Given the description of an element on the screen output the (x, y) to click on. 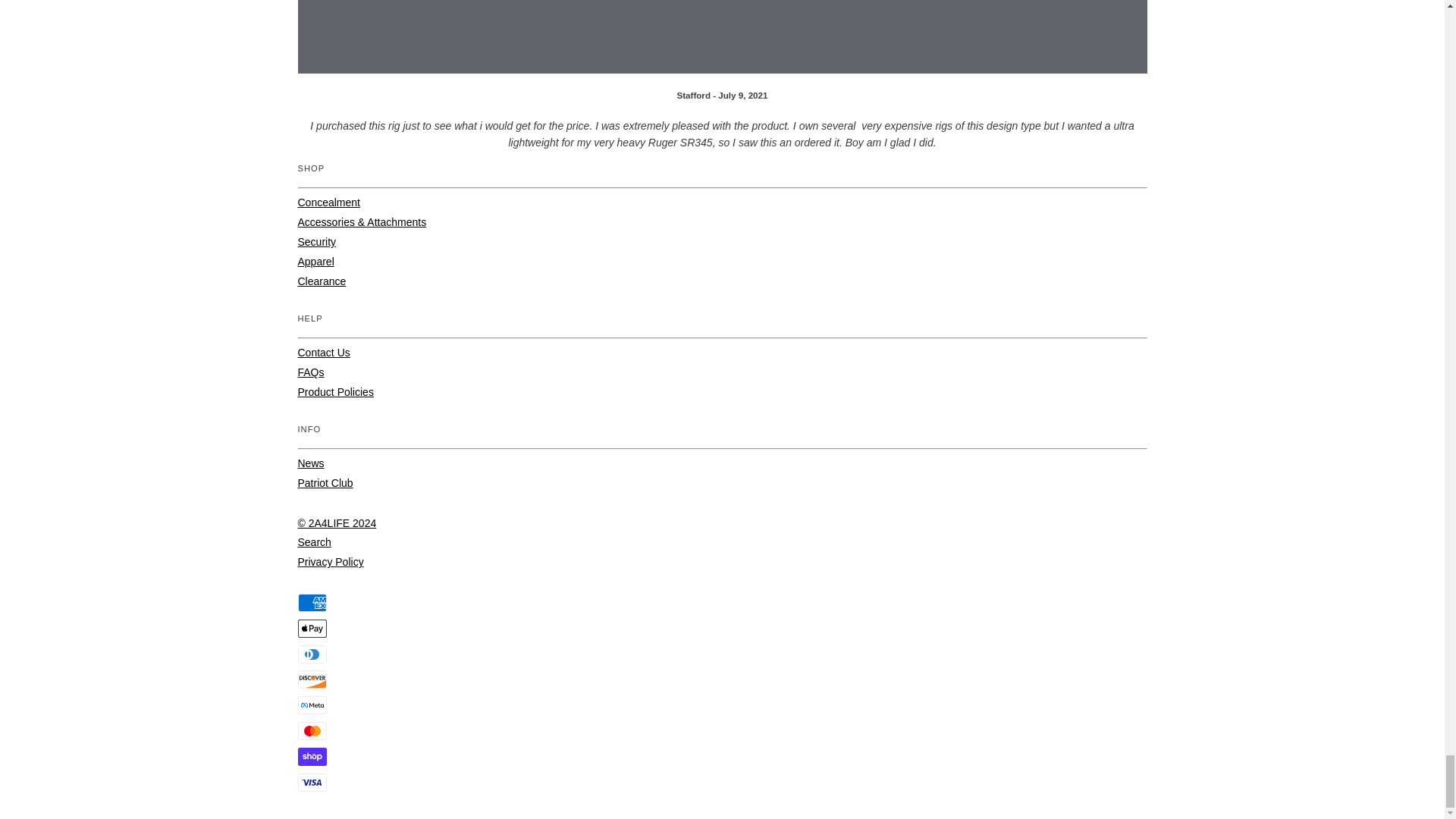
Shop Pay (311, 756)
Visa (311, 782)
Meta Pay (311, 705)
Diners Club (311, 654)
American Express (311, 602)
Mastercard (311, 730)
Apple Pay (311, 628)
Discover (311, 679)
